Given the description of an element on the screen output the (x, y) to click on. 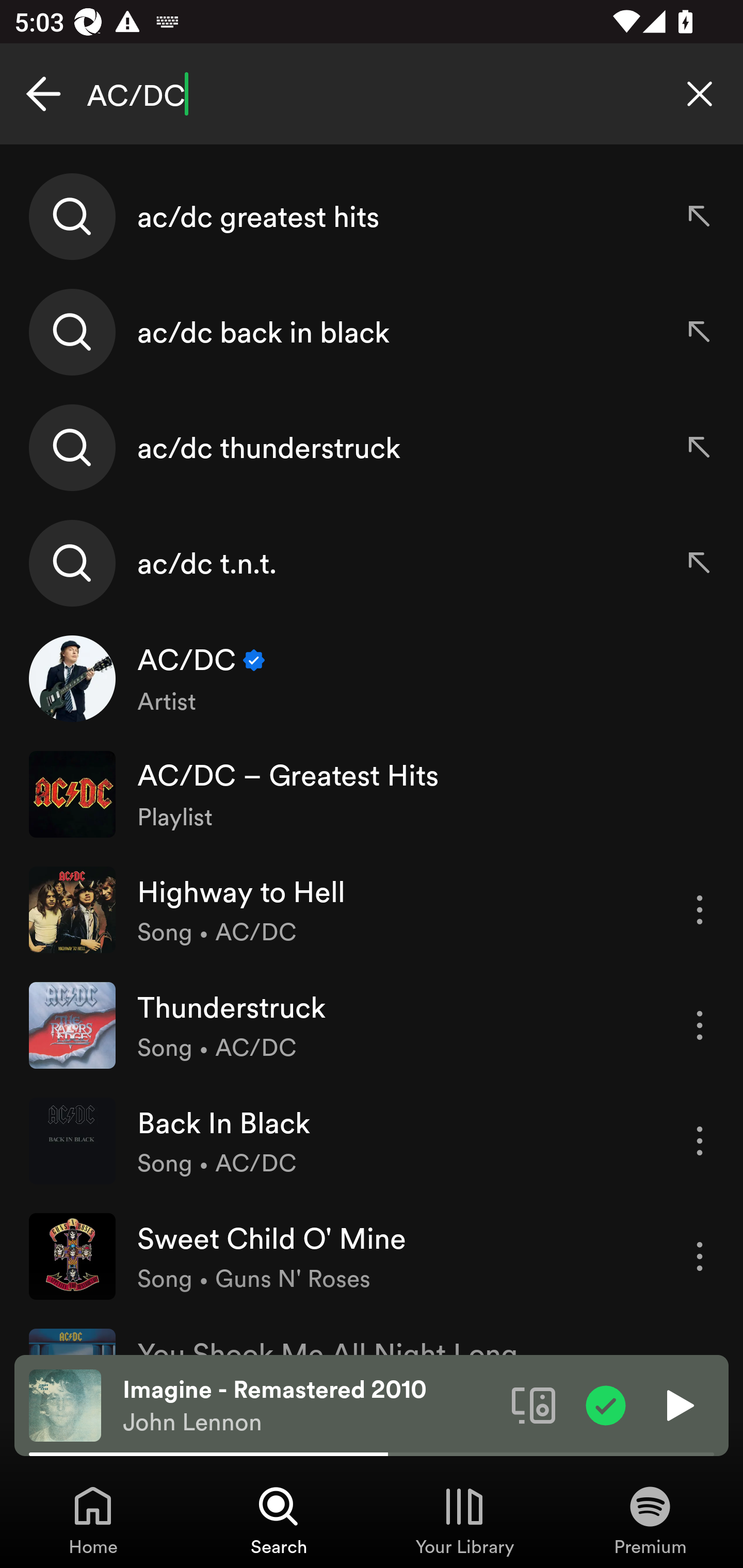
AC/DC (371, 93)
Cancel (43, 93)
Clear search query (699, 93)
ac/dc greatest hits (371, 216)
ac/dc back in black (371, 332)
ac/dc thunderstruck (371, 447)
ac/dc t.n.t. (371, 562)
AC/DC Verified Artist (371, 678)
AC/DC – Greatest Hits Playlist (371, 793)
More options for song Highway to Hell (699, 910)
More options for song Thunderstruck (699, 1025)
More options for song Back In Black (699, 1140)
More options for song Sweet Child O' Mine (699, 1256)
Imagine - Remastered 2010 John Lennon (309, 1405)
The cover art of the currently playing track (64, 1404)
Connect to a device. Opens the devices menu (533, 1404)
Item added (605, 1404)
Play (677, 1404)
Home, Tab 1 of 4 Home Home (92, 1519)
Search, Tab 2 of 4 Search Search (278, 1519)
Your Library, Tab 3 of 4 Your Library Your Library (464, 1519)
Premium, Tab 4 of 4 Premium Premium (650, 1519)
